Given the description of an element on the screen output the (x, y) to click on. 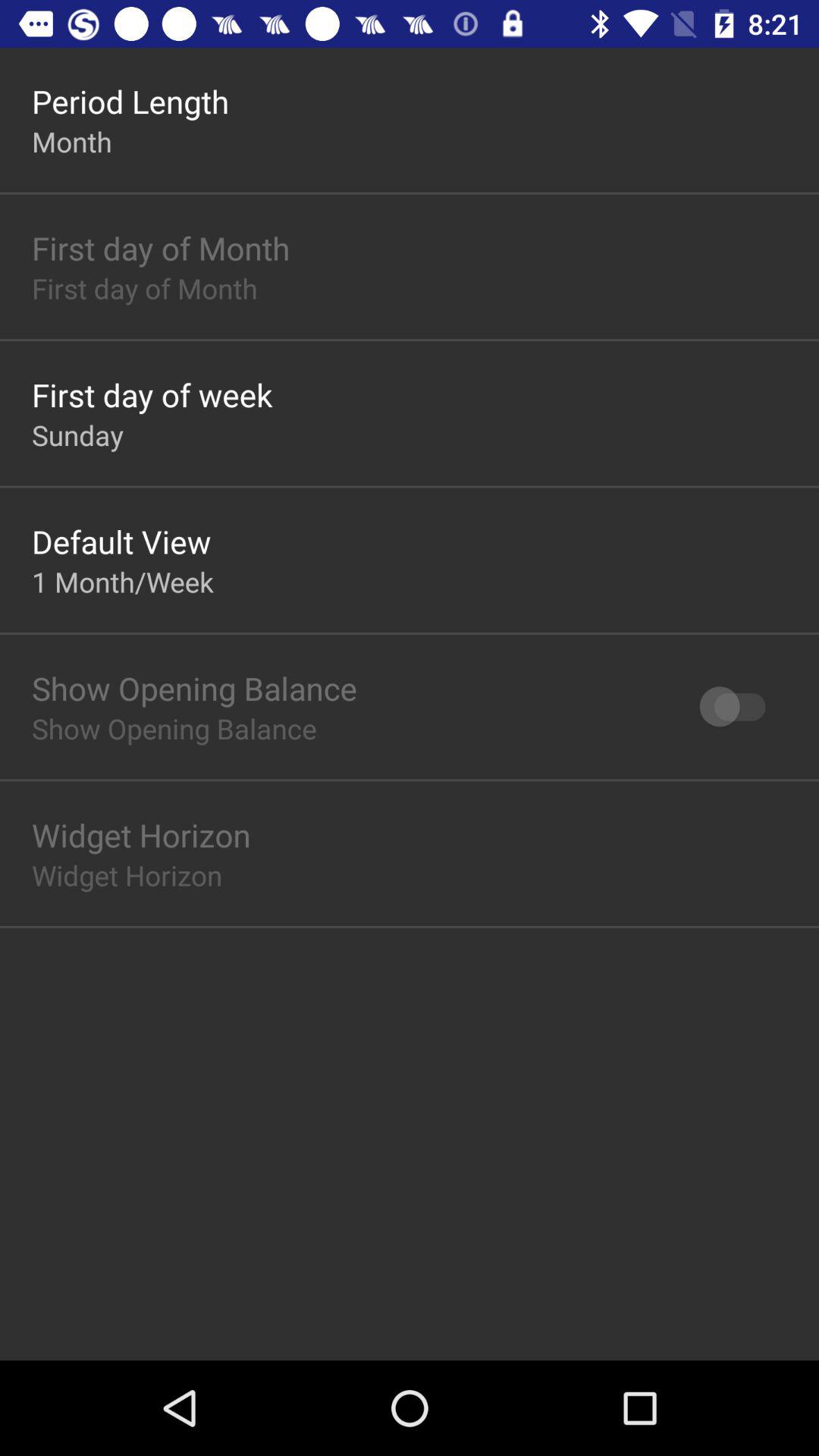
swipe until sunday icon (77, 434)
